Given the description of an element on the screen output the (x, y) to click on. 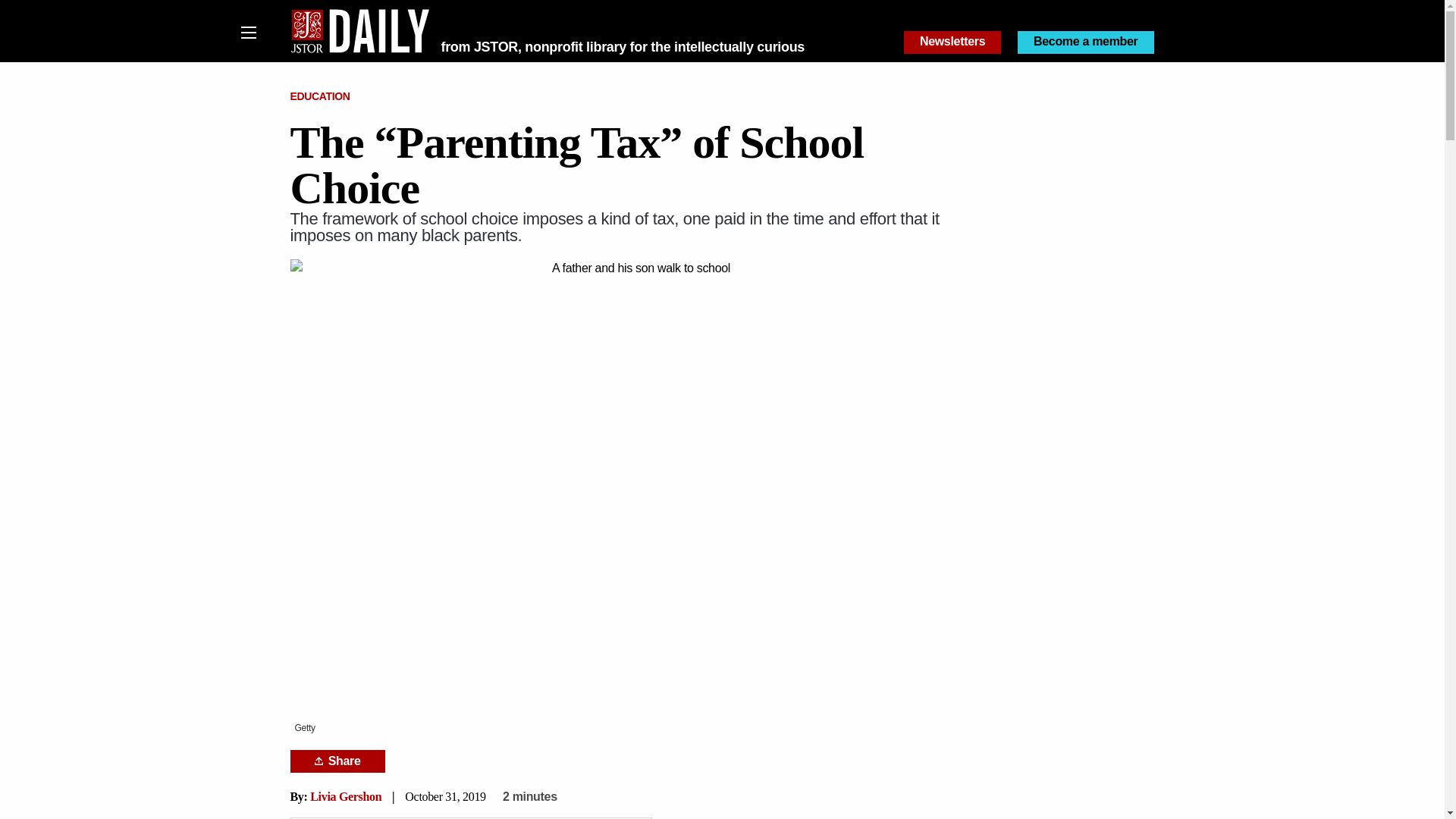
Become a member (1085, 42)
from JSTOR, nonprofit library for the intellectually curious (623, 46)
Newsletters (952, 42)
